Given the description of an element on the screen output the (x, y) to click on. 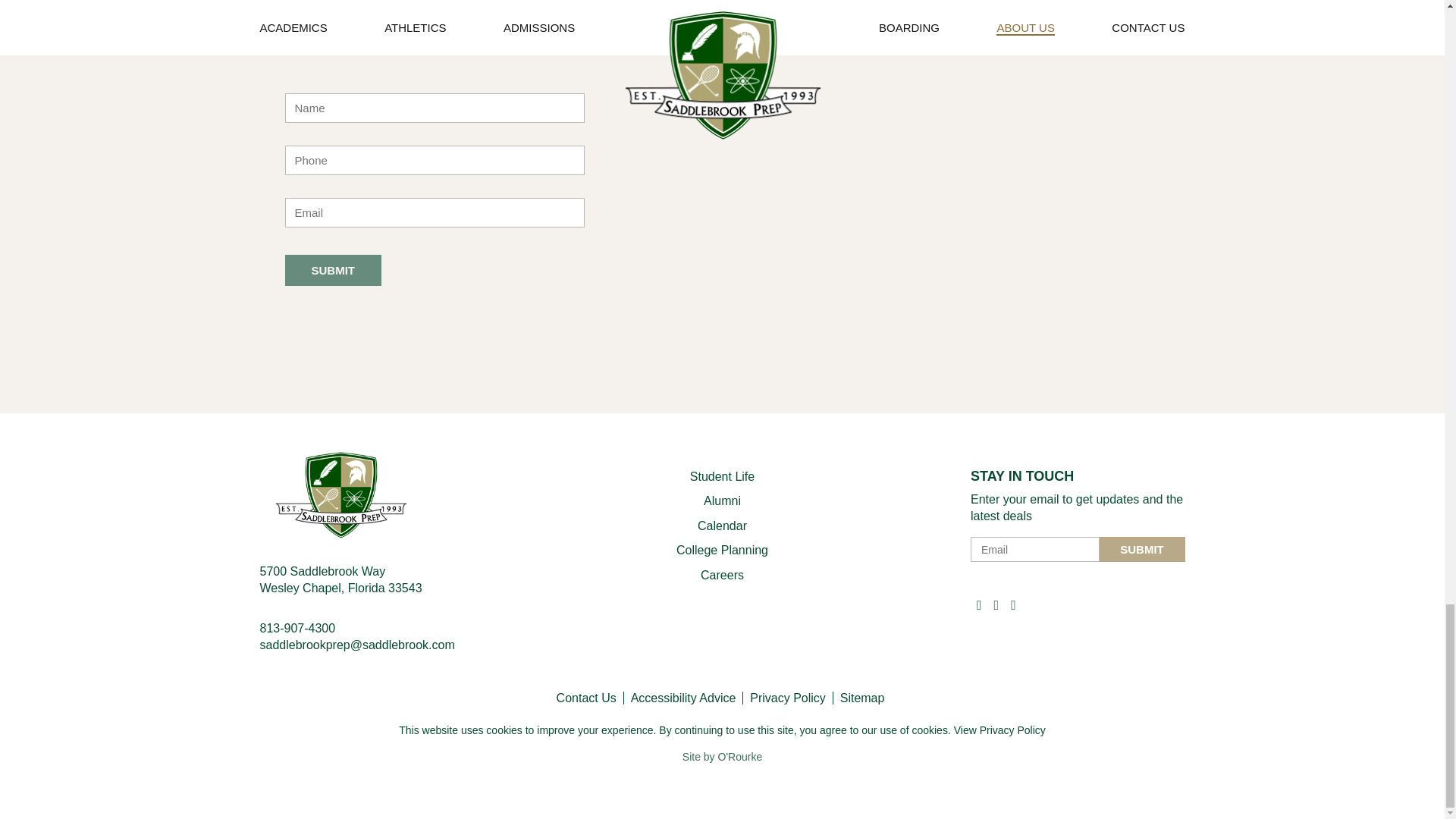
Submit (333, 269)
Submit (1142, 549)
Alumni (722, 500)
813-907-4300 (296, 627)
Submit (333, 269)
Student Life (722, 476)
Calendar (721, 525)
